Given the description of an element on the screen output the (x, y) to click on. 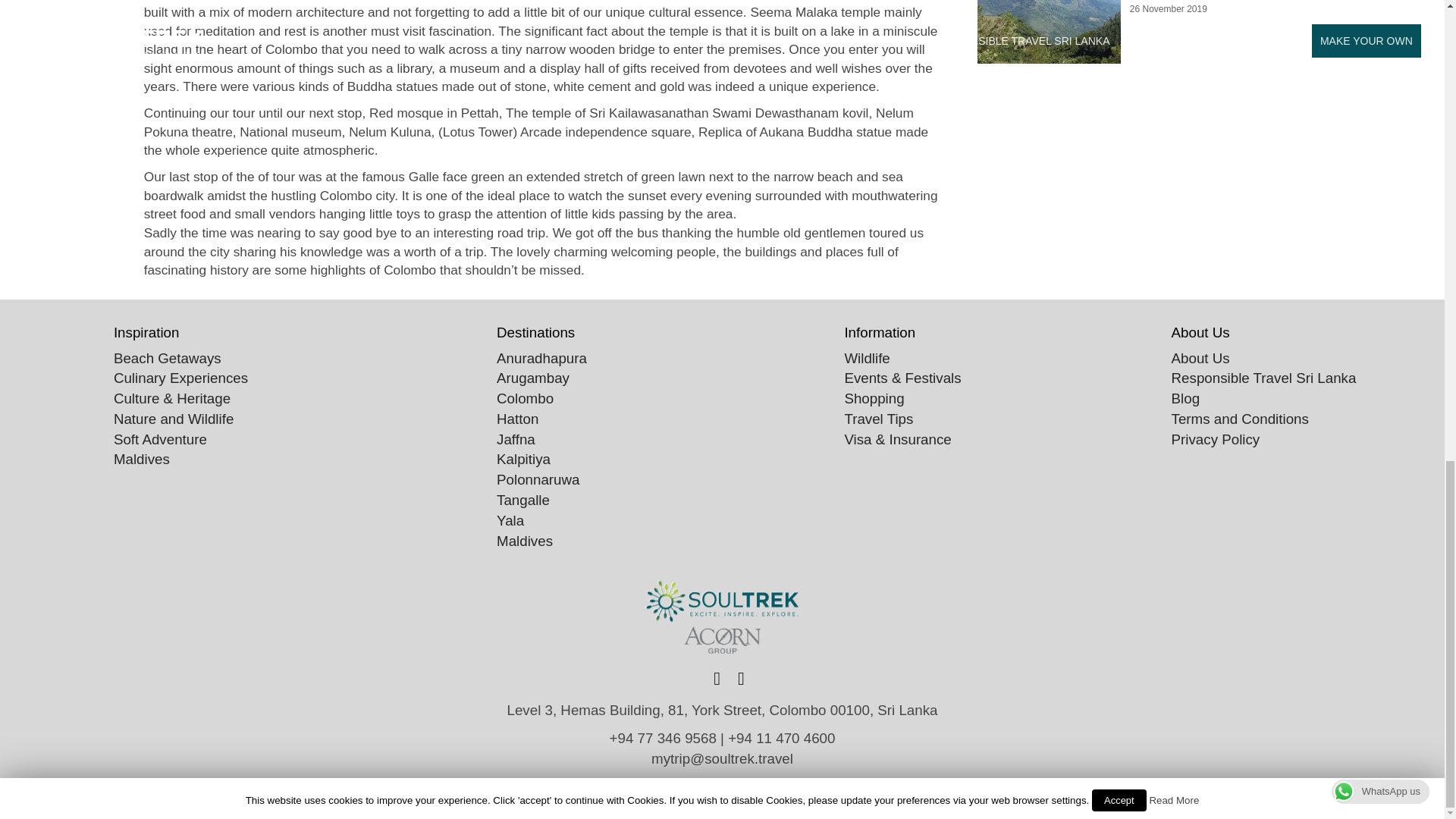
Beach Getaways (167, 358)
Nature and Wildlife (172, 418)
Culinary Experiences (180, 377)
